Given the description of an element on the screen output the (x, y) to click on. 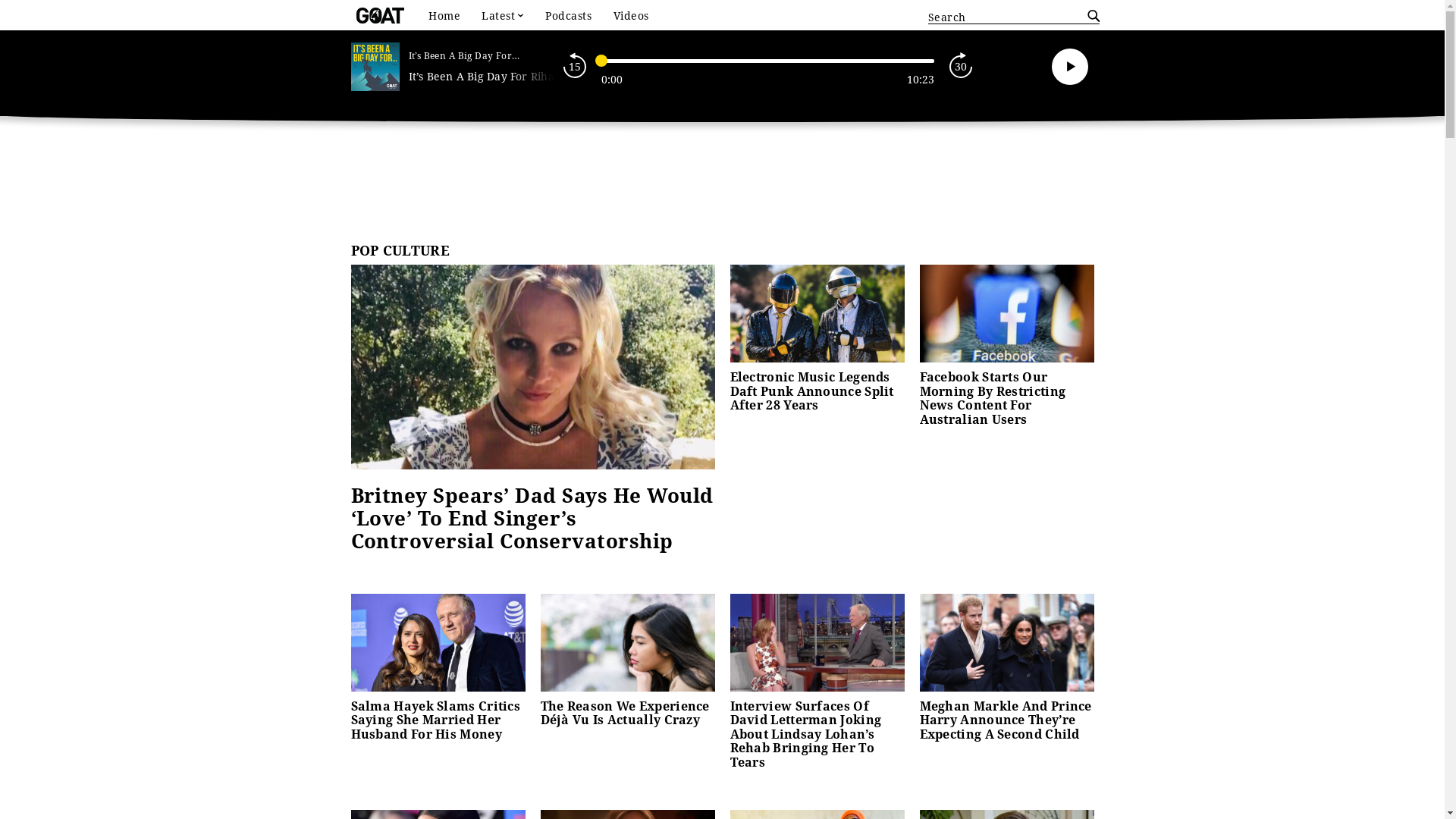
15 Element type: text (574, 66)
Play Element type: text (1069, 66)
Podcasts Element type: text (568, 15)
30 Element type: text (959, 66)
Home Element type: text (443, 15)
GOAT Element type: text (380, 15)
Latest Element type: text (502, 15)
Videos Element type: text (630, 15)
Search Element type: text (1090, 16)
